Given the description of an element on the screen output the (x, y) to click on. 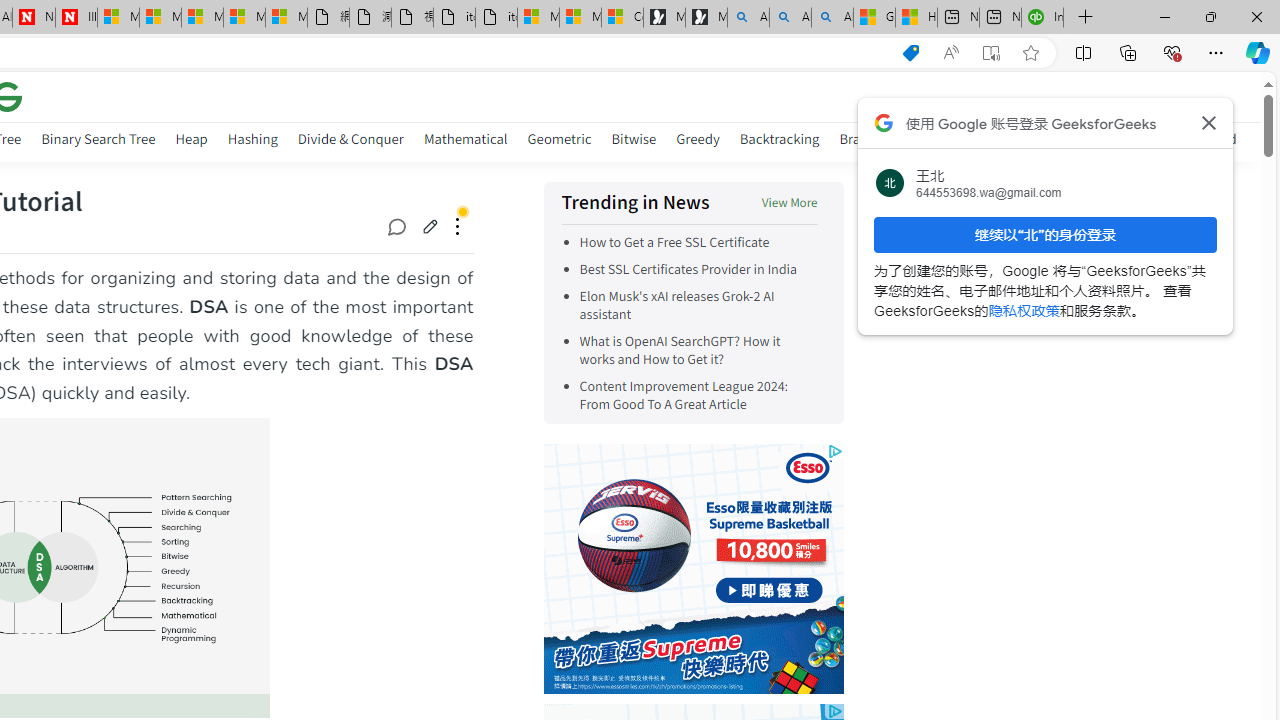
Backtracking (779, 138)
Randomized (1197, 142)
This site has coupons! Shopping in Microsoft Edge (910, 53)
How to Get a Free SSL Certificate (697, 242)
Class: Bz112c Bz112c-r9oPif (1208, 122)
Greedy (697, 138)
Divide & Conquer (349, 142)
Elon Musk's xAI releases Grok-2 AI assistant (697, 306)
Hashing (252, 138)
Intuit QuickBooks Online - Quickbooks (1042, 17)
